Given the description of an element on the screen output the (x, y) to click on. 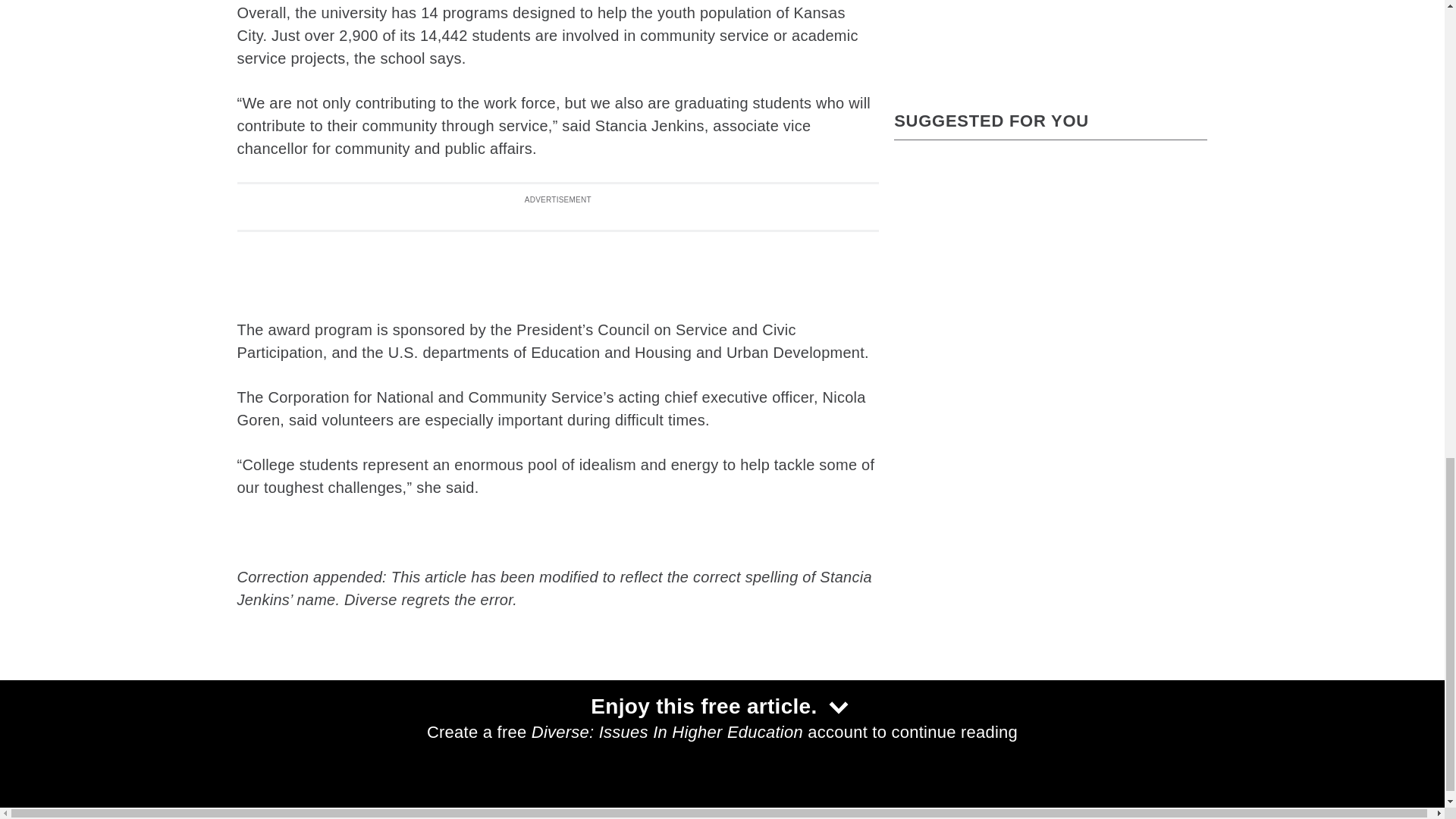
Home (388, 744)
